Given the description of an element on the screen output the (x, y) to click on. 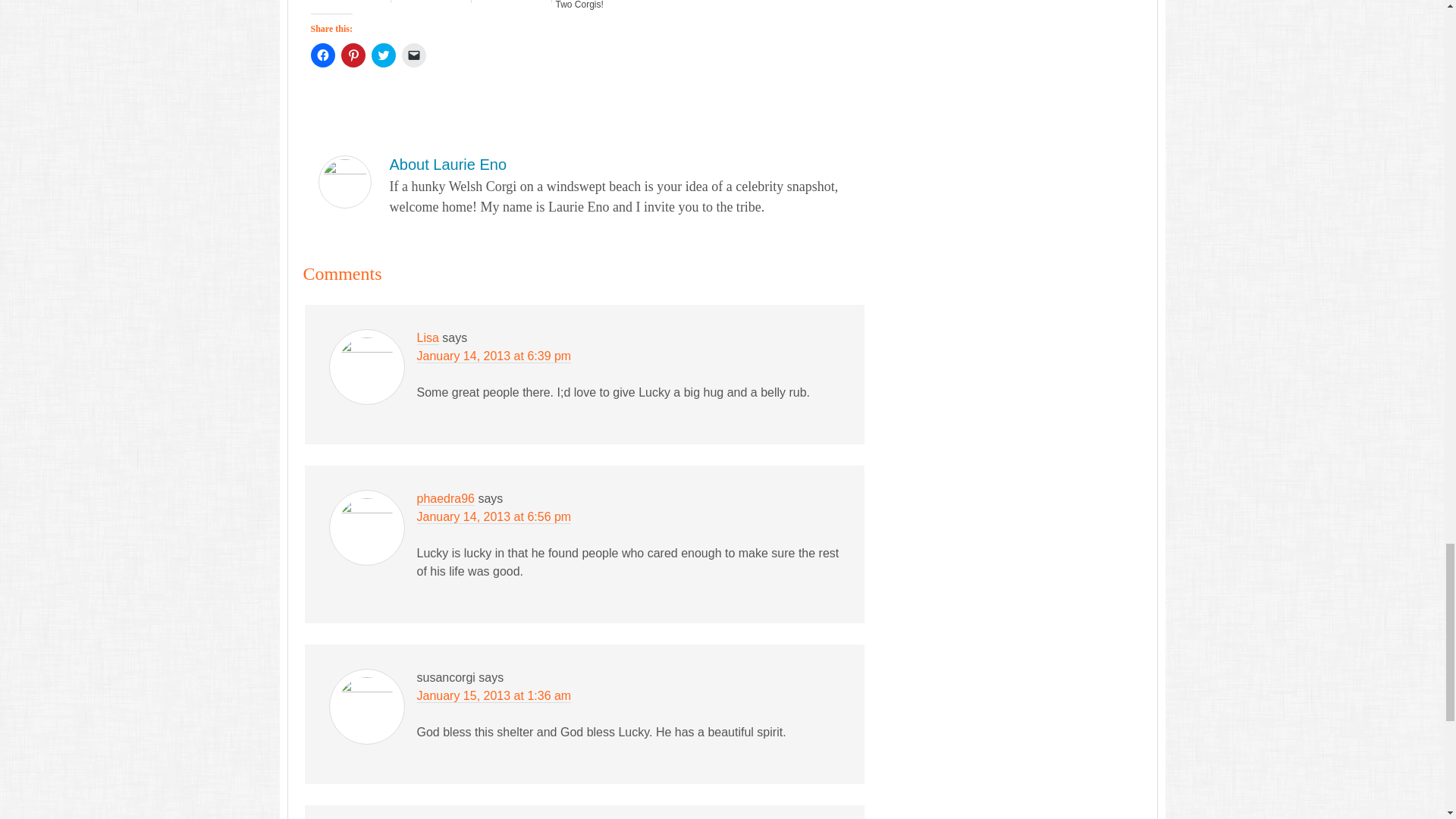
Click to share on Facebook (322, 55)
January 14, 2013 at 6:39 pm (494, 356)
Click to email a link to a friend (413, 55)
phaedra96 (446, 499)
Click to share on Twitter (383, 55)
Click to share on Pinterest (352, 55)
Lisa (427, 337)
